Given the description of an element on the screen output the (x, y) to click on. 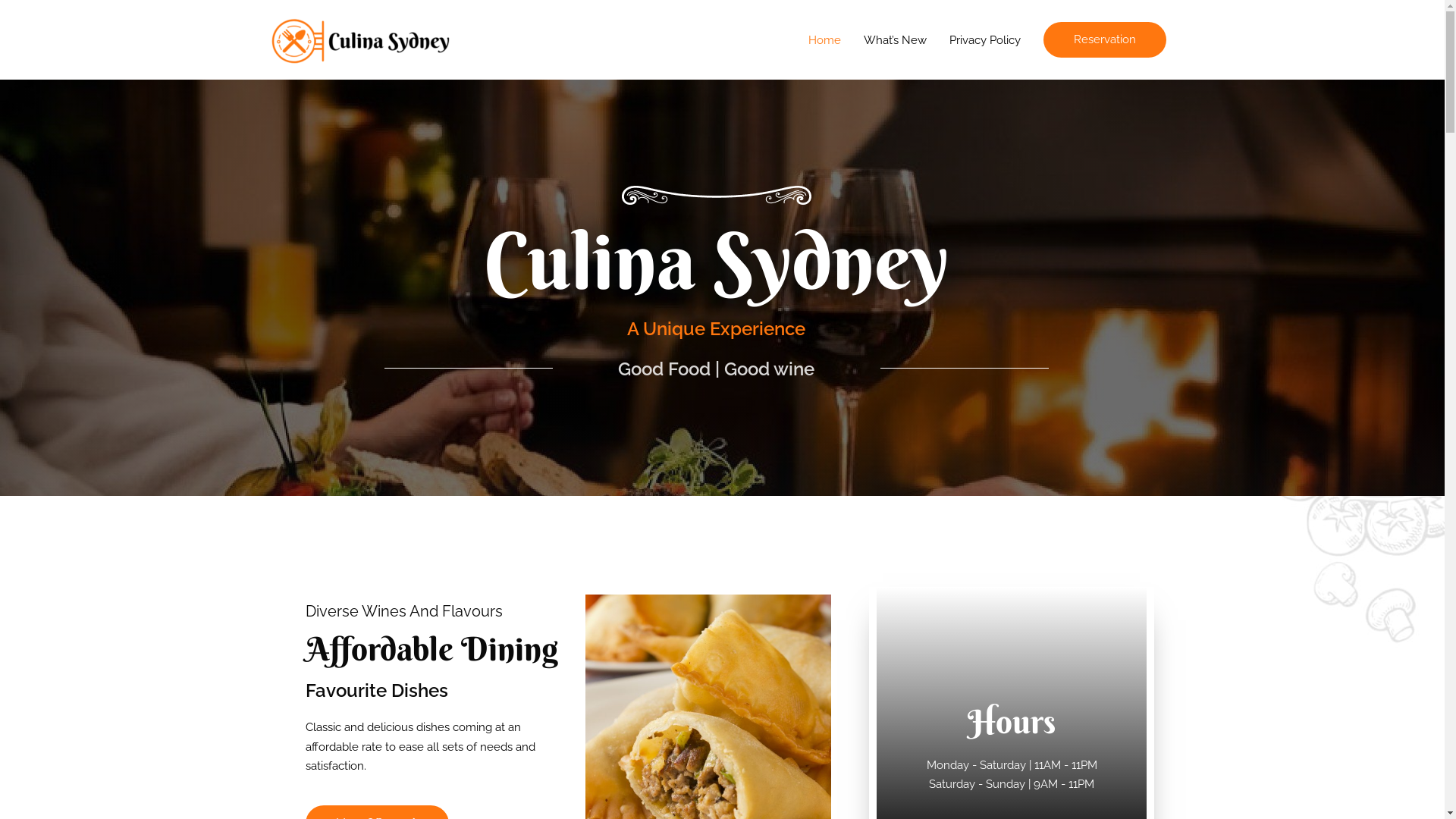
Privacy Policy Element type: text (984, 39)
Reservation Element type: text (1104, 39)
Home Element type: text (823, 39)
